Given the description of an element on the screen output the (x, y) to click on. 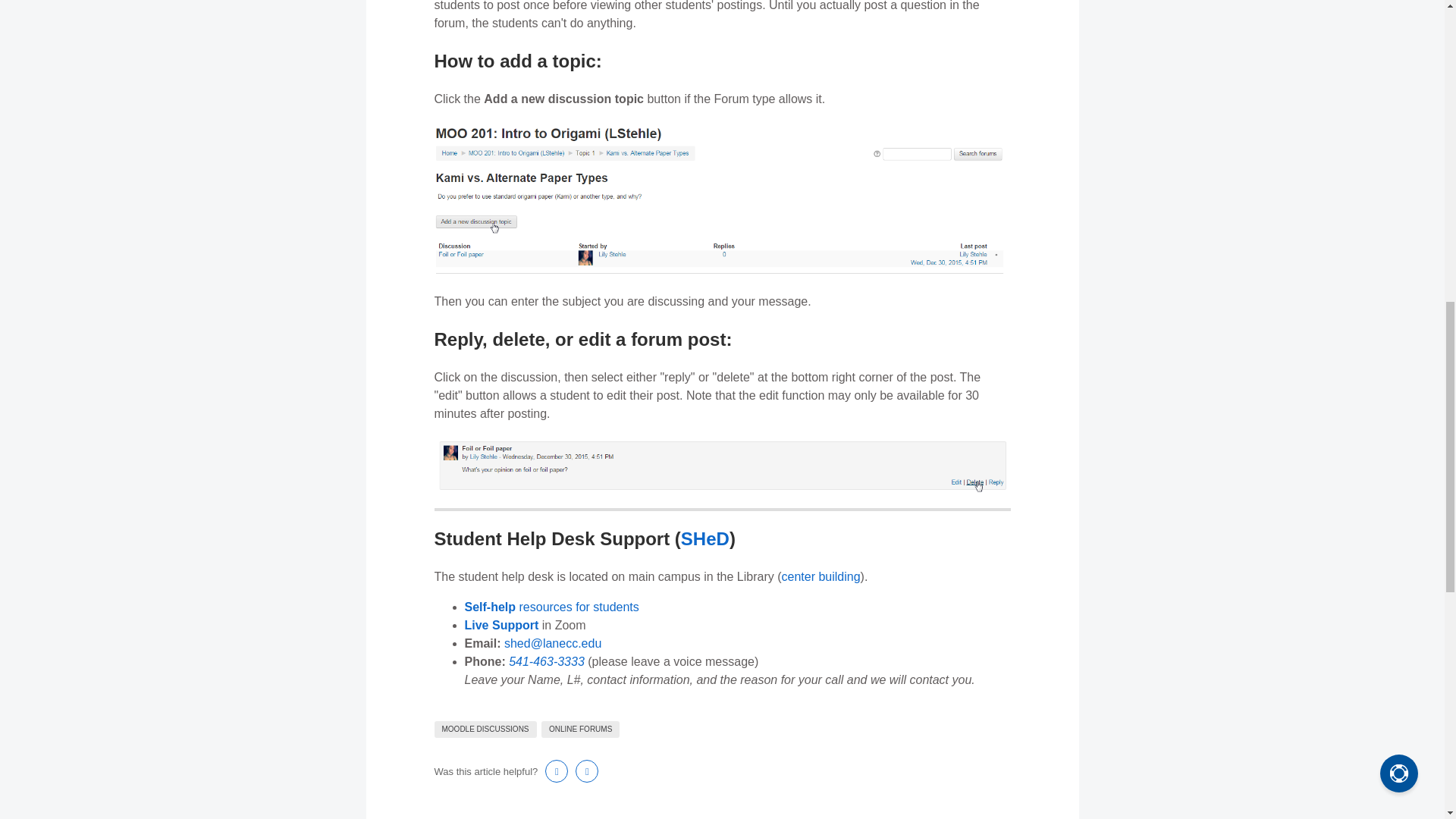
541-463-3333 (546, 661)
Self-help resources for students (551, 606)
ONLINE FORUMS (580, 729)
Live Support (501, 625)
center building (820, 576)
Student Help Desk Information (705, 538)
MOODLE DISCUSSIONS (484, 729)
SHeD (705, 538)
